Given the description of an element on the screen output the (x, y) to click on. 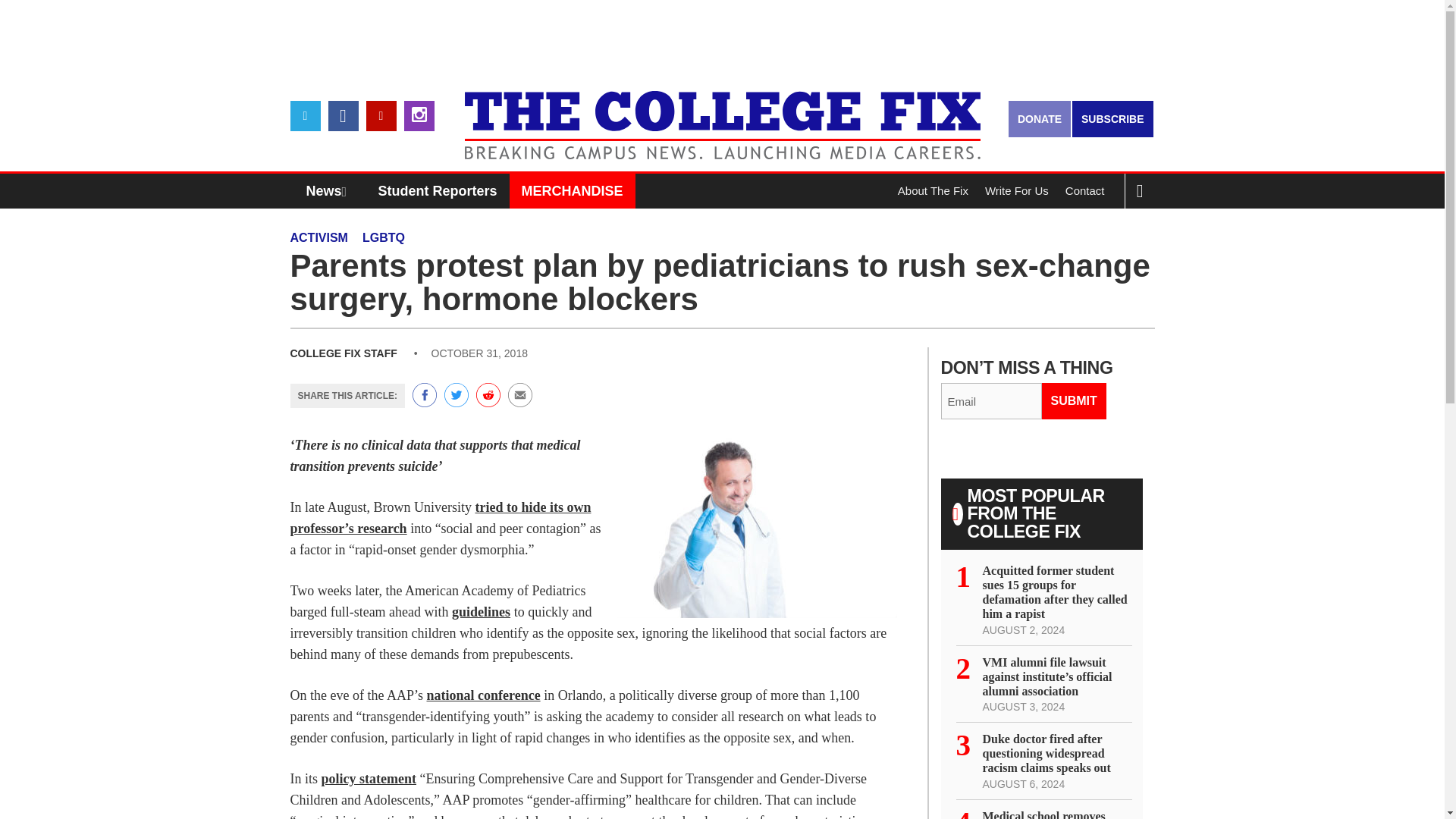
The College Fix (721, 114)
News (330, 190)
MERCHANDISE (571, 190)
About The Fix (932, 190)
SUBSCRIBE (1112, 118)
Submit (1074, 401)
Student Reporters (437, 190)
DONATE (1039, 118)
